Given the description of an element on the screen output the (x, y) to click on. 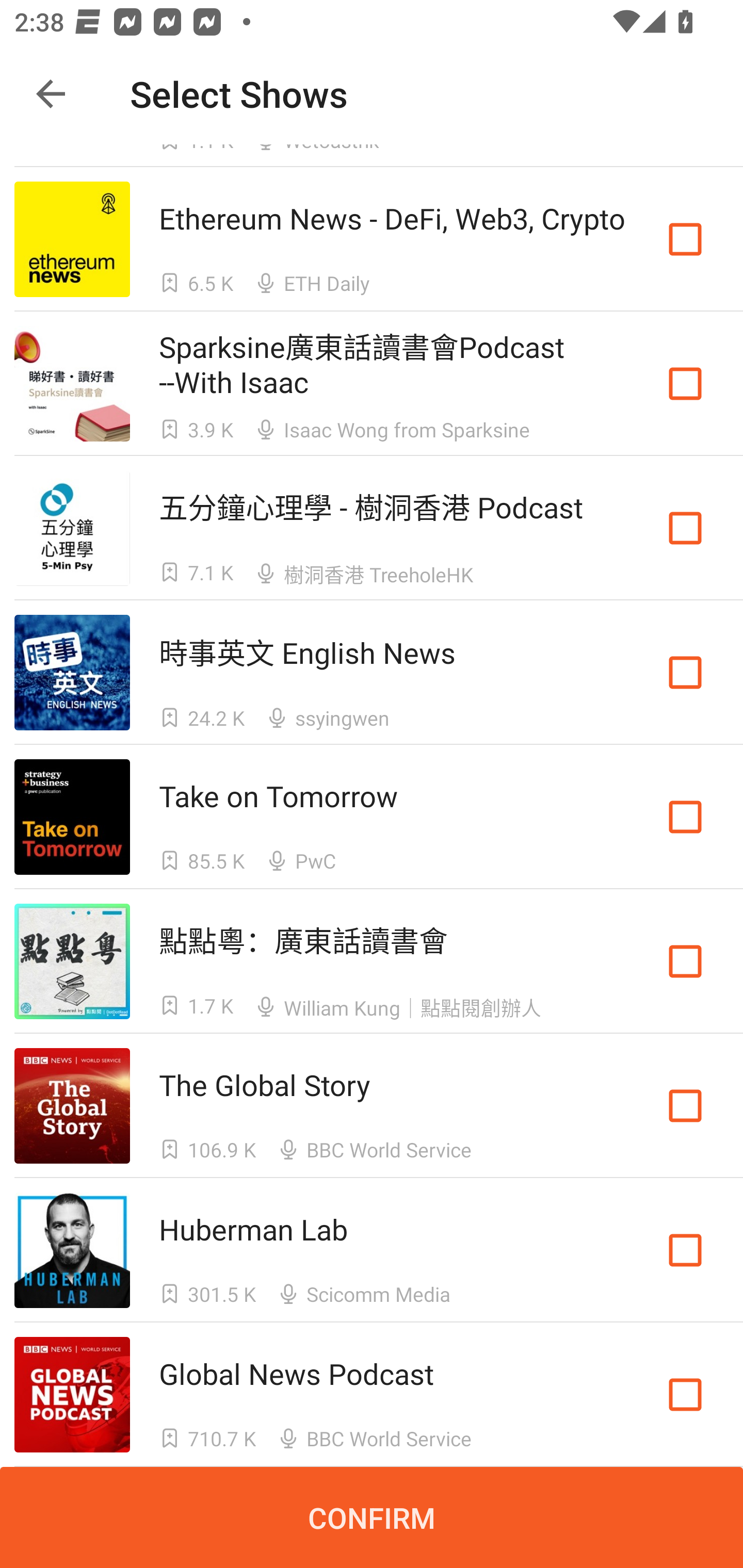
Navigate up (50, 93)
Take on Tomorrow Take on Tomorrow  85.5 K  PwC (371, 816)
CONFIRM (371, 1517)
